Given the description of an element on the screen output the (x, y) to click on. 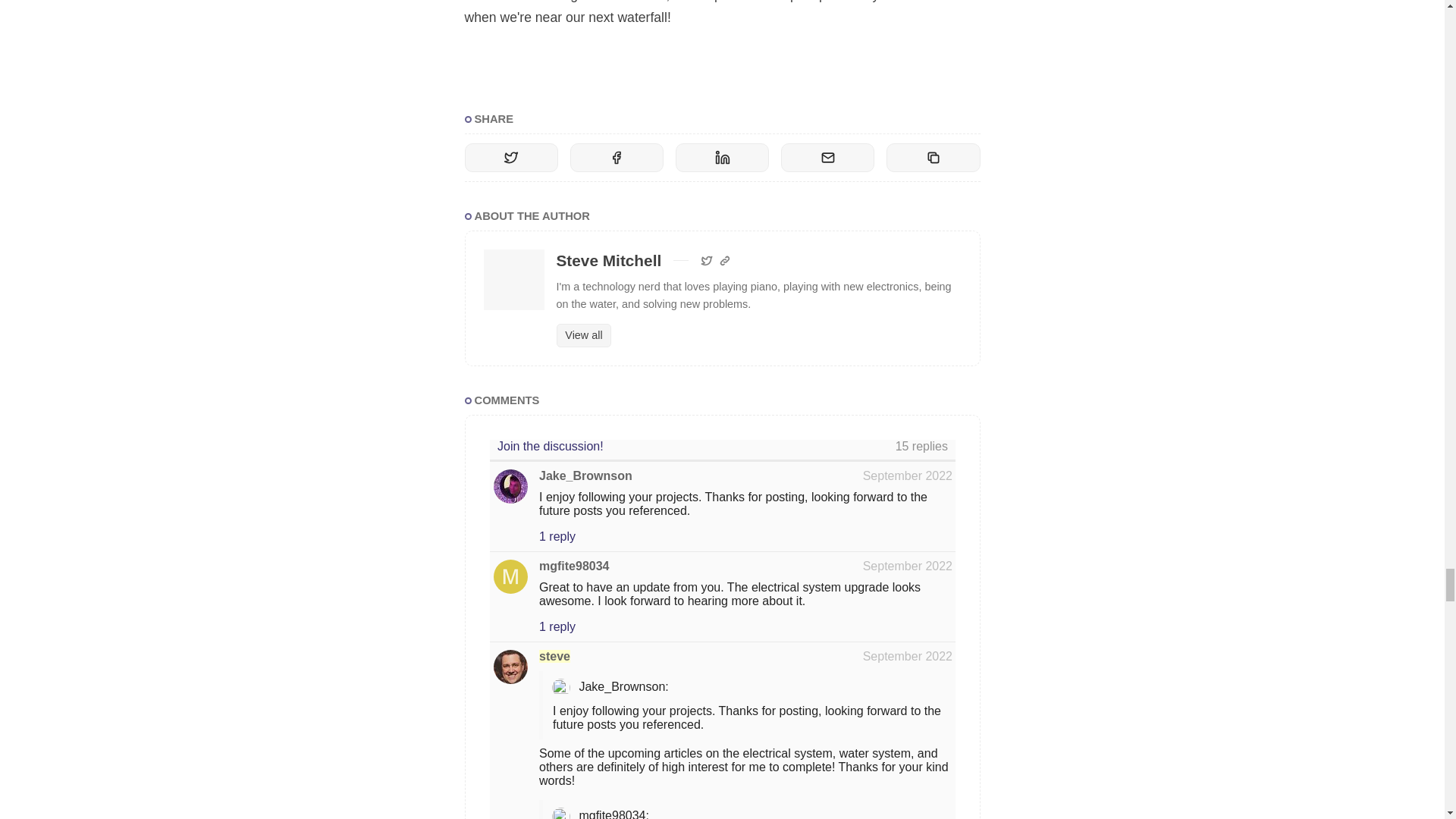
Share on Twitter (510, 157)
Share on Facebook (616, 157)
Website (724, 260)
Share on Linkedin (721, 157)
Share by email (827, 157)
Copy to clipboard (932, 157)
Twitter (706, 260)
